Given the description of an element on the screen output the (x, y) to click on. 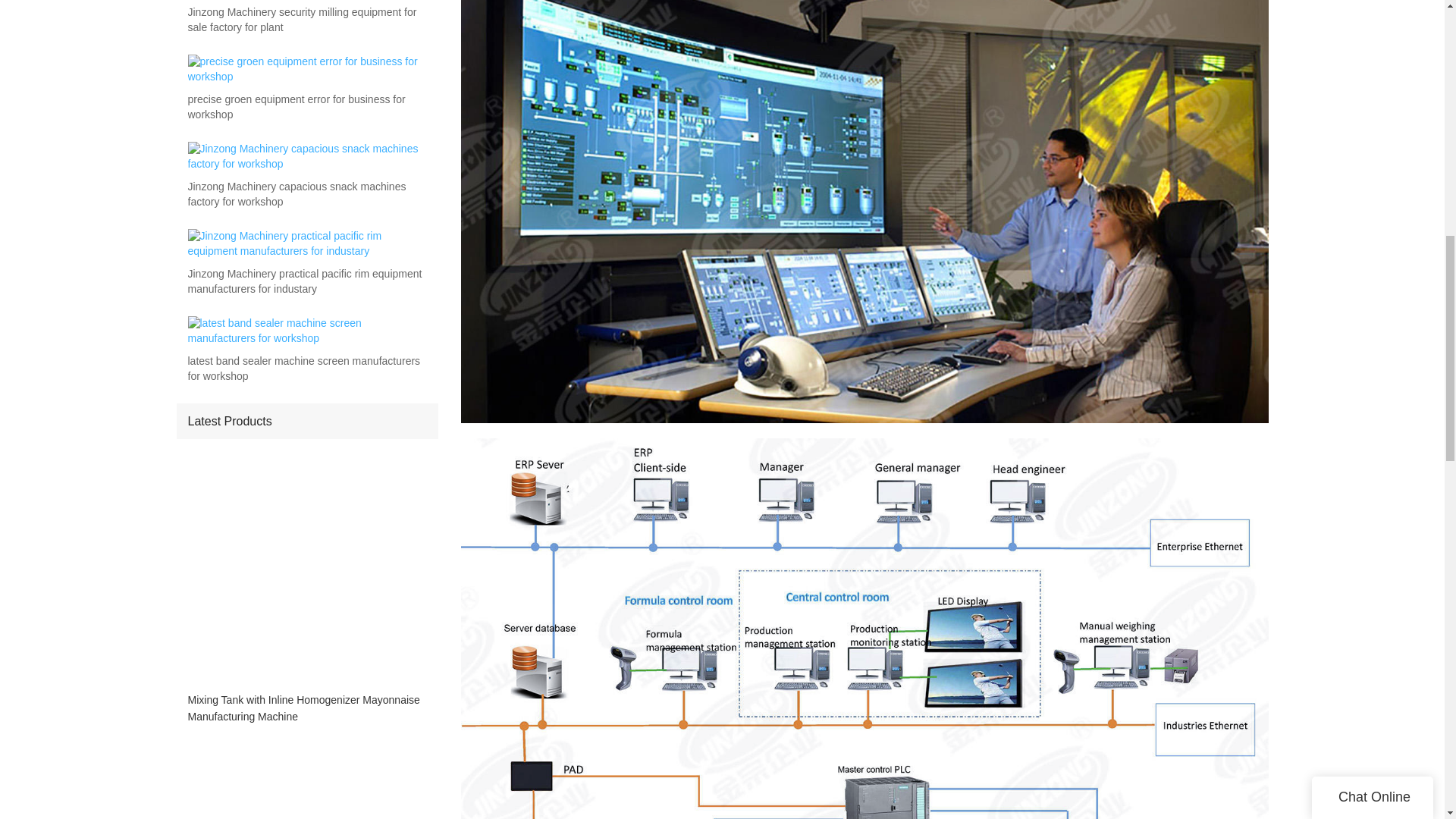
latest band sealer machine screen manufacturers for workshop (306, 368)
precise groen equipment error for business for workshop (306, 107)
